Given the description of an element on the screen output the (x, y) to click on. 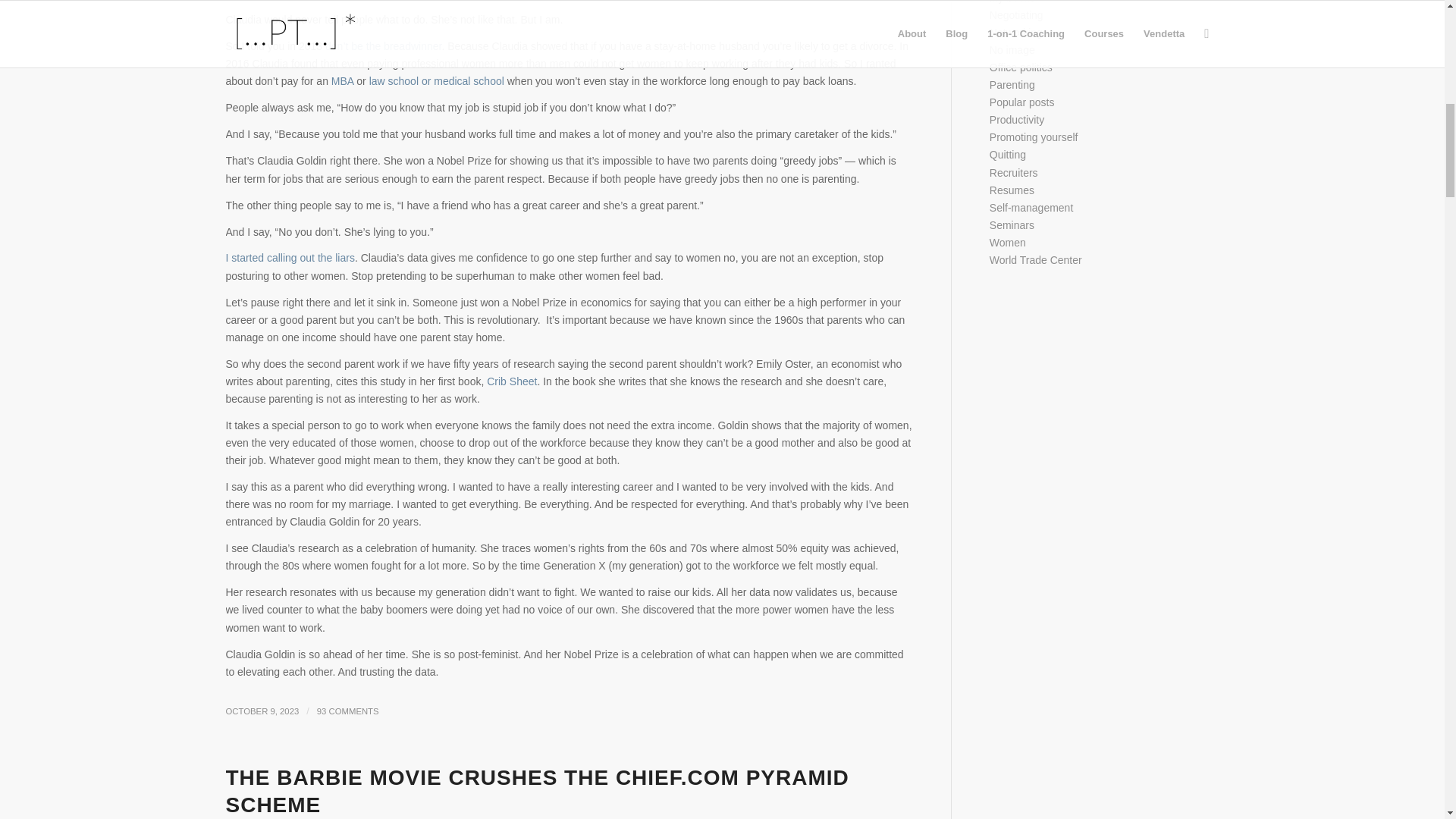
MBA (342, 80)
law school or medical school (436, 80)
THE BARBIE MOVIE CRUSHES THE CHIEF.COM PYRAMID SCHEME (536, 790)
93 COMMENTS (347, 710)
Crib Sheet (511, 381)
I started calling out the liars (290, 257)
